Given the description of an element on the screen output the (x, y) to click on. 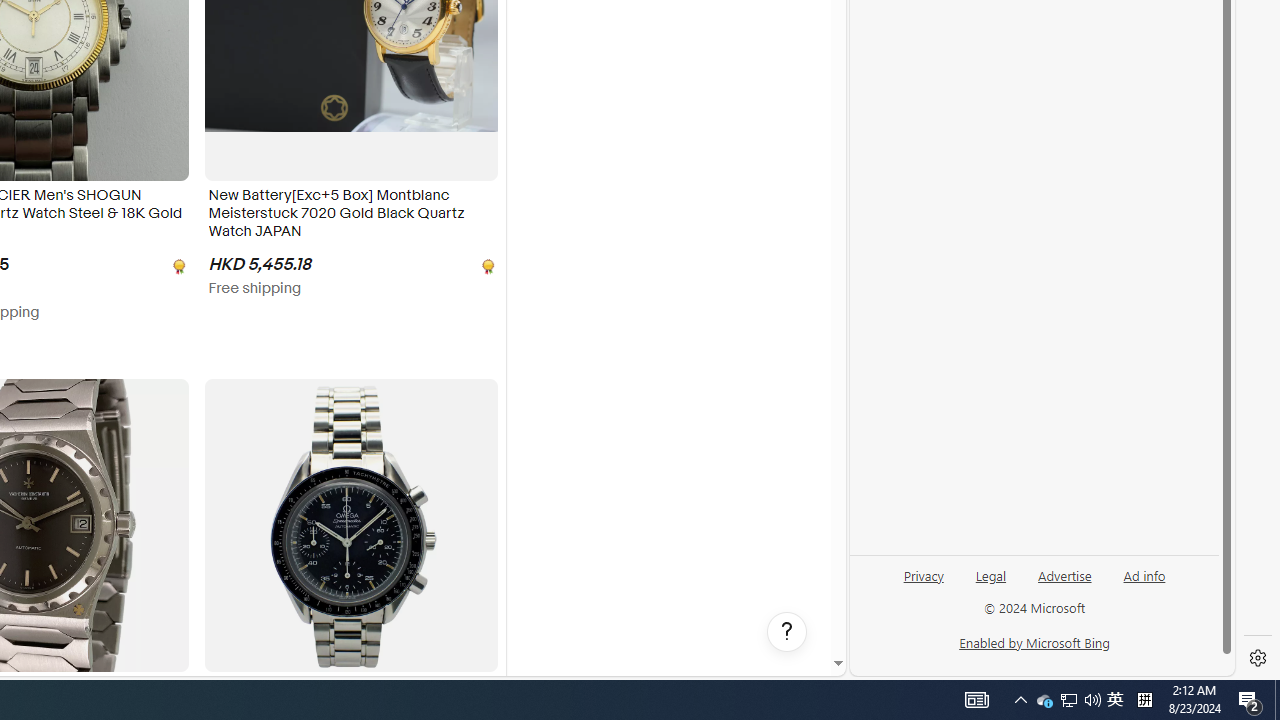
[object Undefined] (486, 264)
Help, opens dialogs (787, 632)
